Given the description of an element on the screen output the (x, y) to click on. 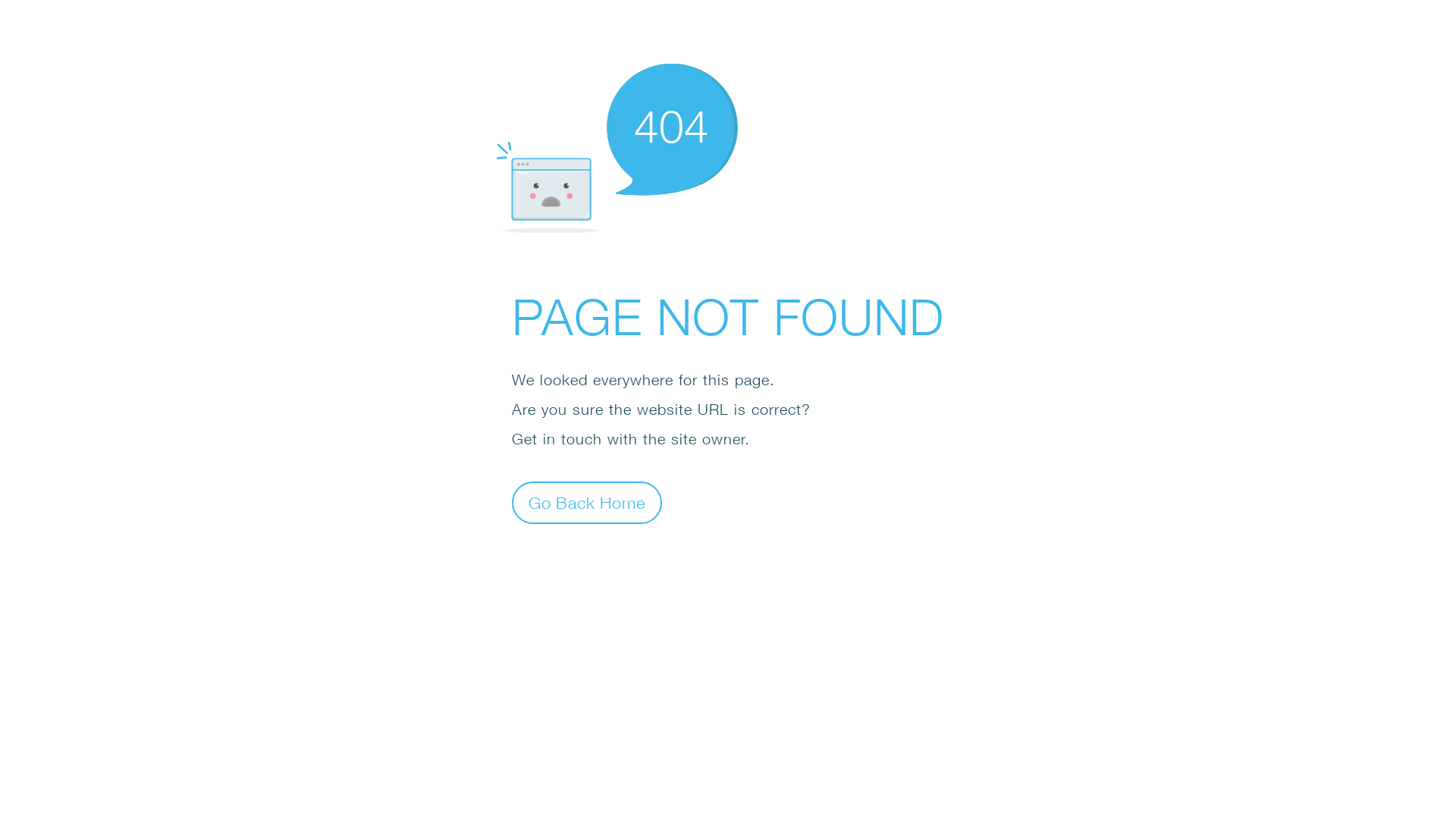
Go Back Home Element type: text (586, 502)
